Given the description of an element on the screen output the (x, y) to click on. 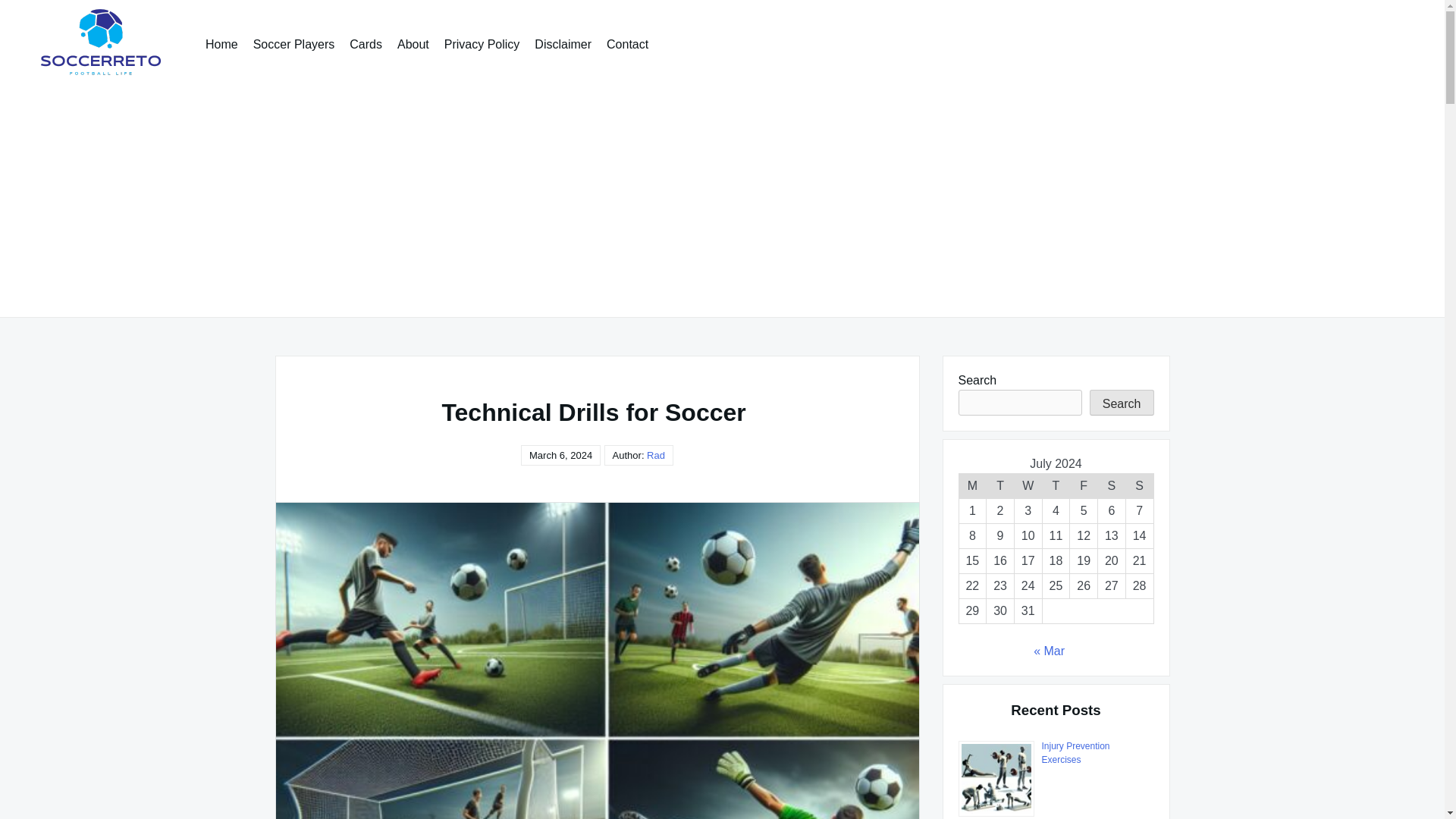
Cards (366, 44)
About (413, 44)
Rad (655, 455)
Privacy Policy (481, 44)
Disclaimer (562, 44)
Contact (627, 44)
Home (222, 44)
Soccer Players (294, 44)
Posts by Rad (655, 455)
